Given the description of an element on the screen output the (x, y) to click on. 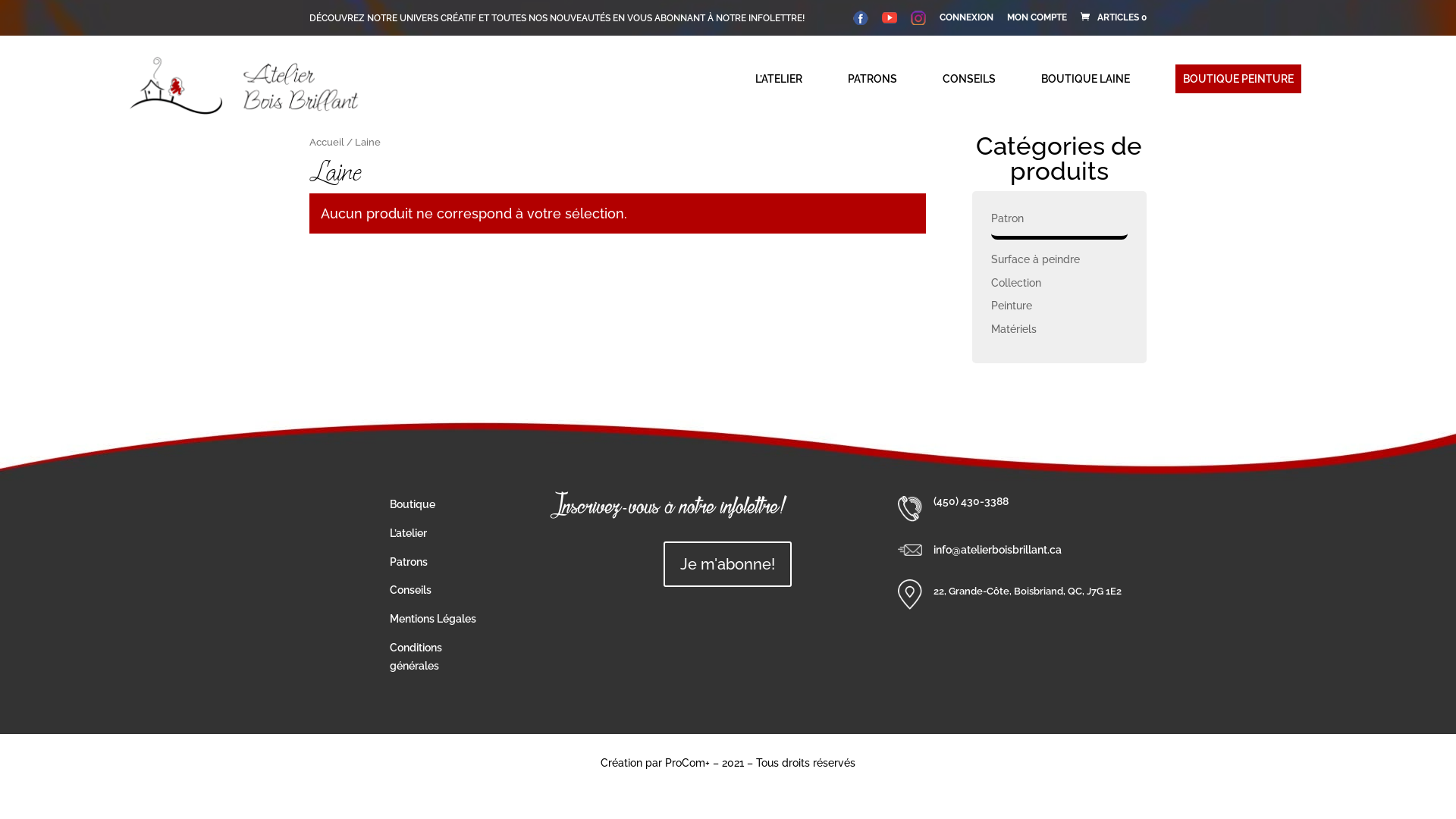
Patrons Element type: text (408, 561)
Patron Element type: text (1007, 218)
Conseils Element type: text (410, 589)
Accueil Element type: text (326, 141)
CONNEXION Element type: text (966, 20)
PATRONS Element type: text (872, 78)
info@atelierboisbrillant.ca Element type: text (997, 549)
(450) 430-3388 Element type: text (970, 501)
CONSEILS Element type: text (968, 78)
BOUTIQUE LAINE Element type: text (1085, 78)
MON COMPTE Element type: text (1036, 20)
Boutique Element type: text (412, 504)
BOUTIQUE PEINTURE Element type: text (1238, 78)
YOUTUBE Element type: text (889, 20)
Je m'abonne! Element type: text (727, 563)
ARTICLES 0 Element type: text (1112, 17)
Peinture Element type: text (1011, 305)
FACEBOOK Element type: text (860, 20)
Collection Element type: text (1016, 282)
INSTAGRAM Element type: text (917, 20)
